Given the description of an element on the screen output the (x, y) to click on. 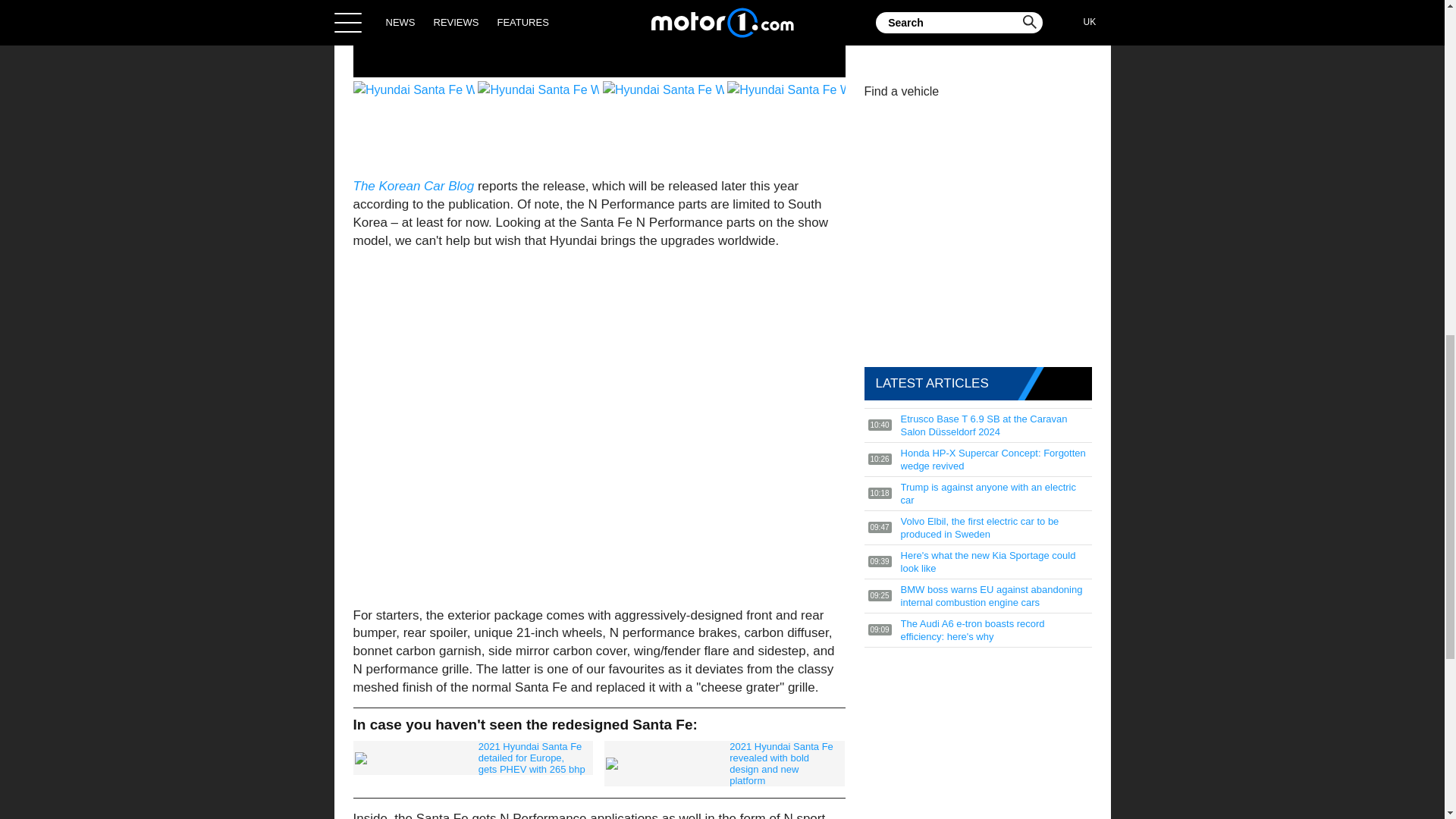
The Korean Car Blog (413, 186)
